Given the description of an element on the screen output the (x, y) to click on. 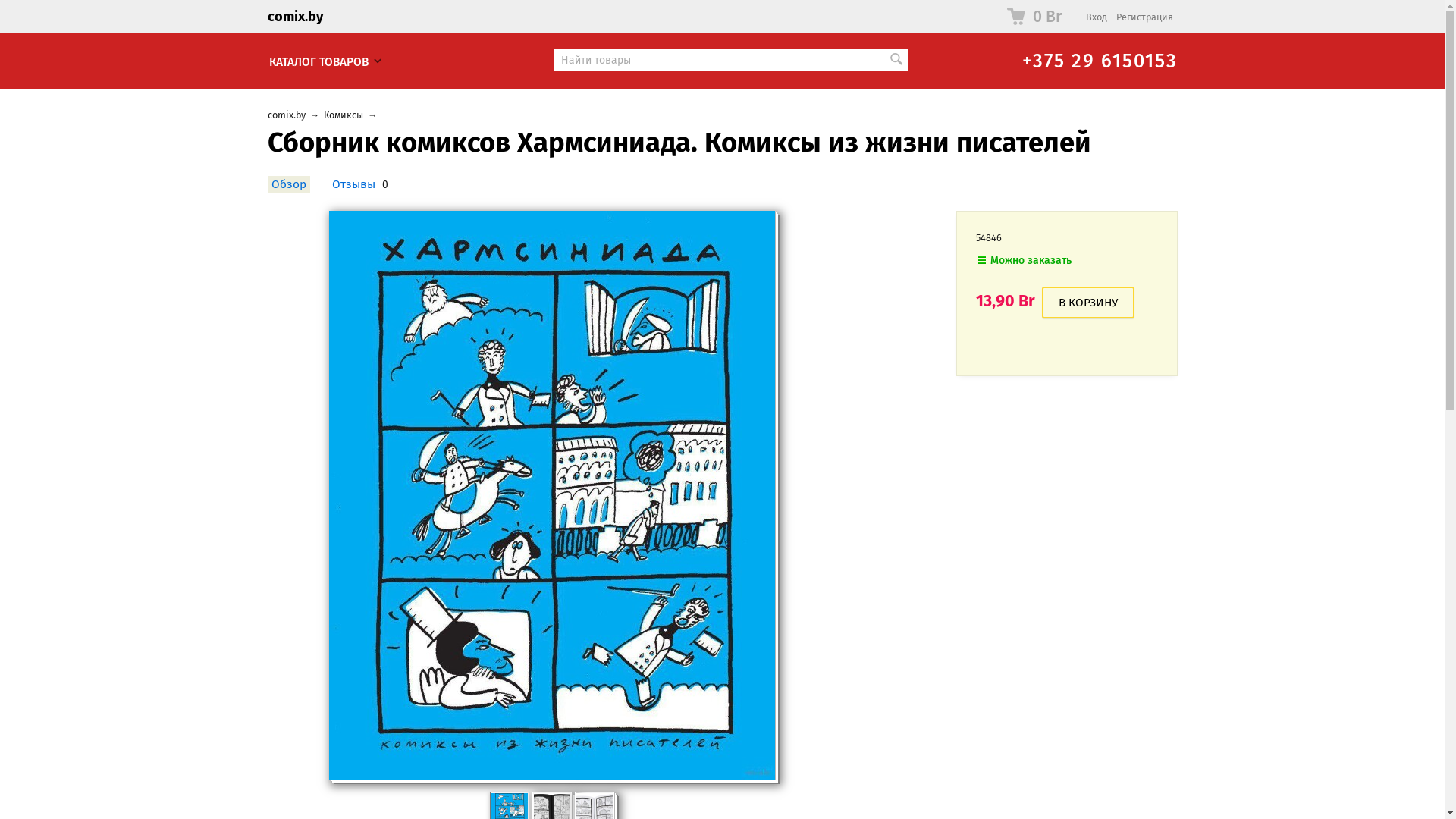
comix.by Element type: text (294, 16)
comix.by Element type: text (285, 114)
0 Br Element type: text (1034, 16)
